Given the description of an element on the screen output the (x, y) to click on. 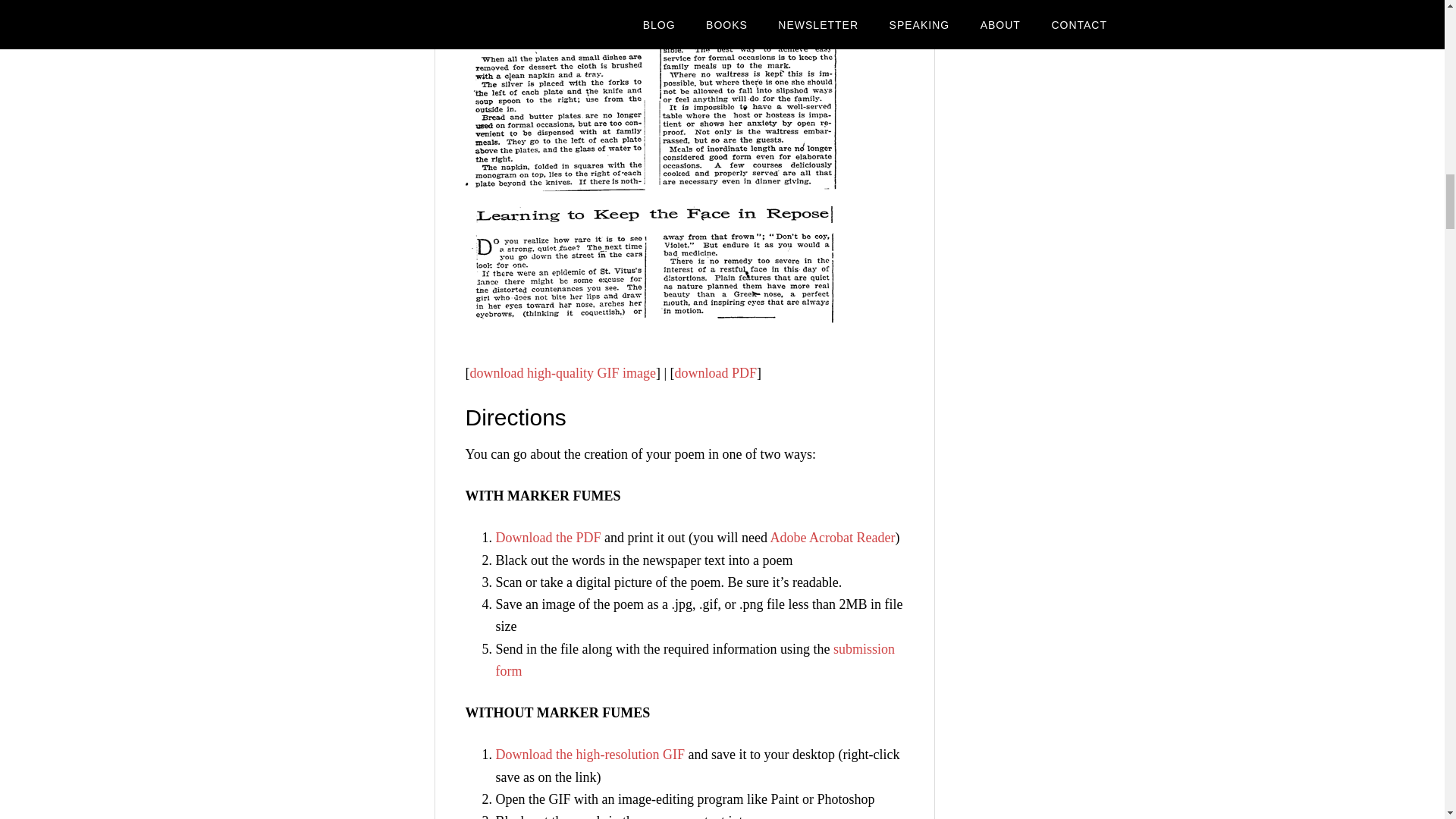
download PDF (716, 372)
Adobe Acrobat Reader (832, 537)
download high-quality GIF image (563, 372)
submission form (695, 659)
Download the PDF (548, 537)
Download the high-resolution GIF (590, 754)
